Given the description of an element on the screen output the (x, y) to click on. 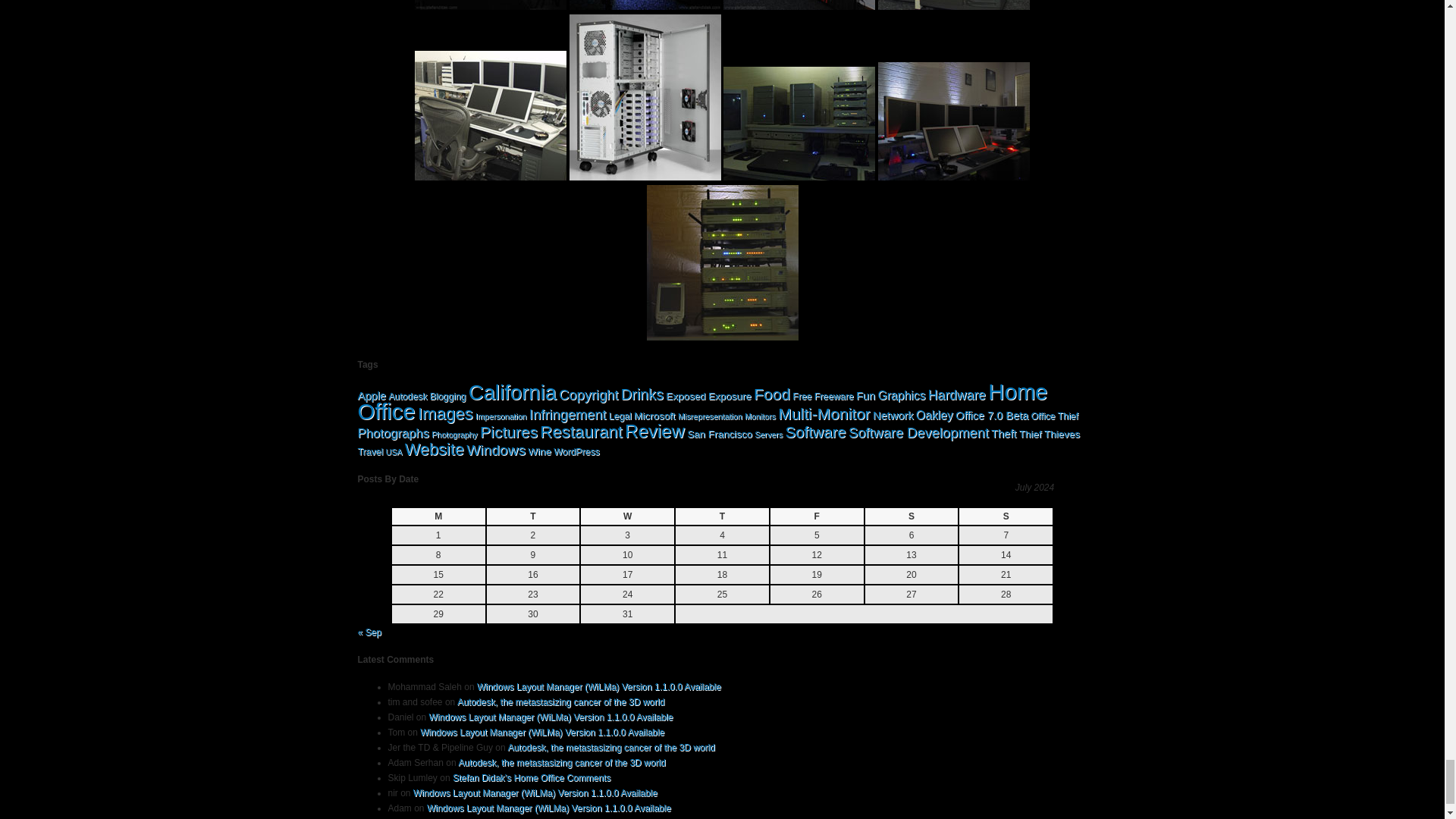
Sunday (1005, 515)
Wednesday (627, 515)
Saturday (911, 515)
Tuesday (532, 515)
Thursday (721, 515)
Friday (816, 515)
Monday (437, 515)
